Given the description of an element on the screen output the (x, y) to click on. 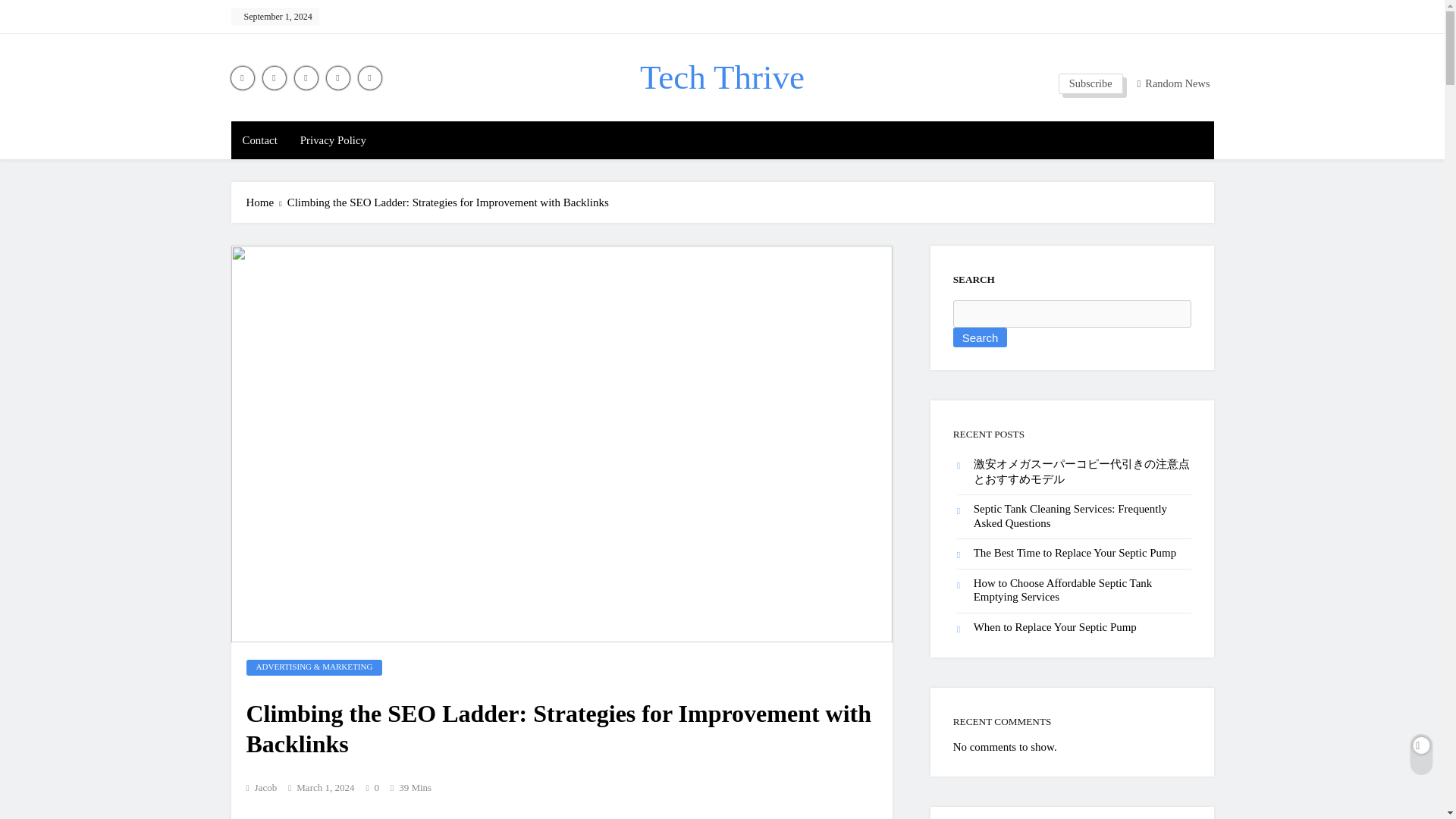
Search (980, 337)
Random News (1167, 83)
Privacy Policy (332, 139)
Subscribe (1090, 83)
Septic Tank Cleaning Services: Frequently Asked Questions (1070, 515)
Contact (259, 139)
Jacob (261, 787)
Tech Thrive (722, 77)
March 1, 2024 (325, 787)
Random News (1173, 82)
